Given the description of an element on the screen output the (x, y) to click on. 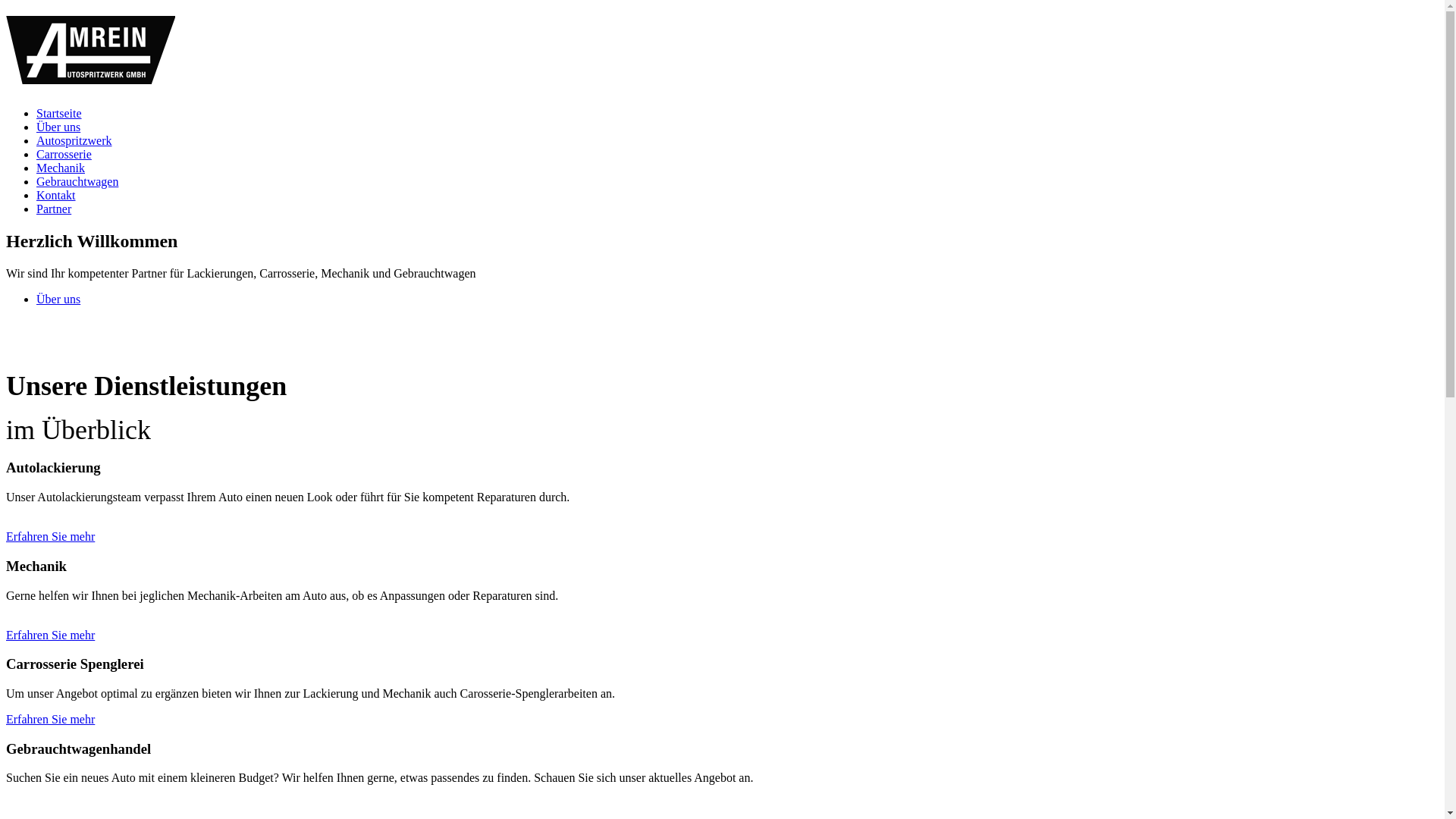
Erfahren Sie mehr Element type: text (50, 536)
Autospritzwerk Element type: text (74, 140)
Startseite Element type: text (58, 112)
Carrosserie Element type: text (63, 153)
Partner Element type: text (53, 208)
Mechanik Element type: text (60, 167)
Erfahren Sie mehr Element type: text (50, 718)
Erfahren Sie mehr Element type: text (50, 634)
Gebrauchtwagen Element type: text (77, 181)
Kontakt Element type: text (55, 194)
